Given the description of an element on the screen output the (x, y) to click on. 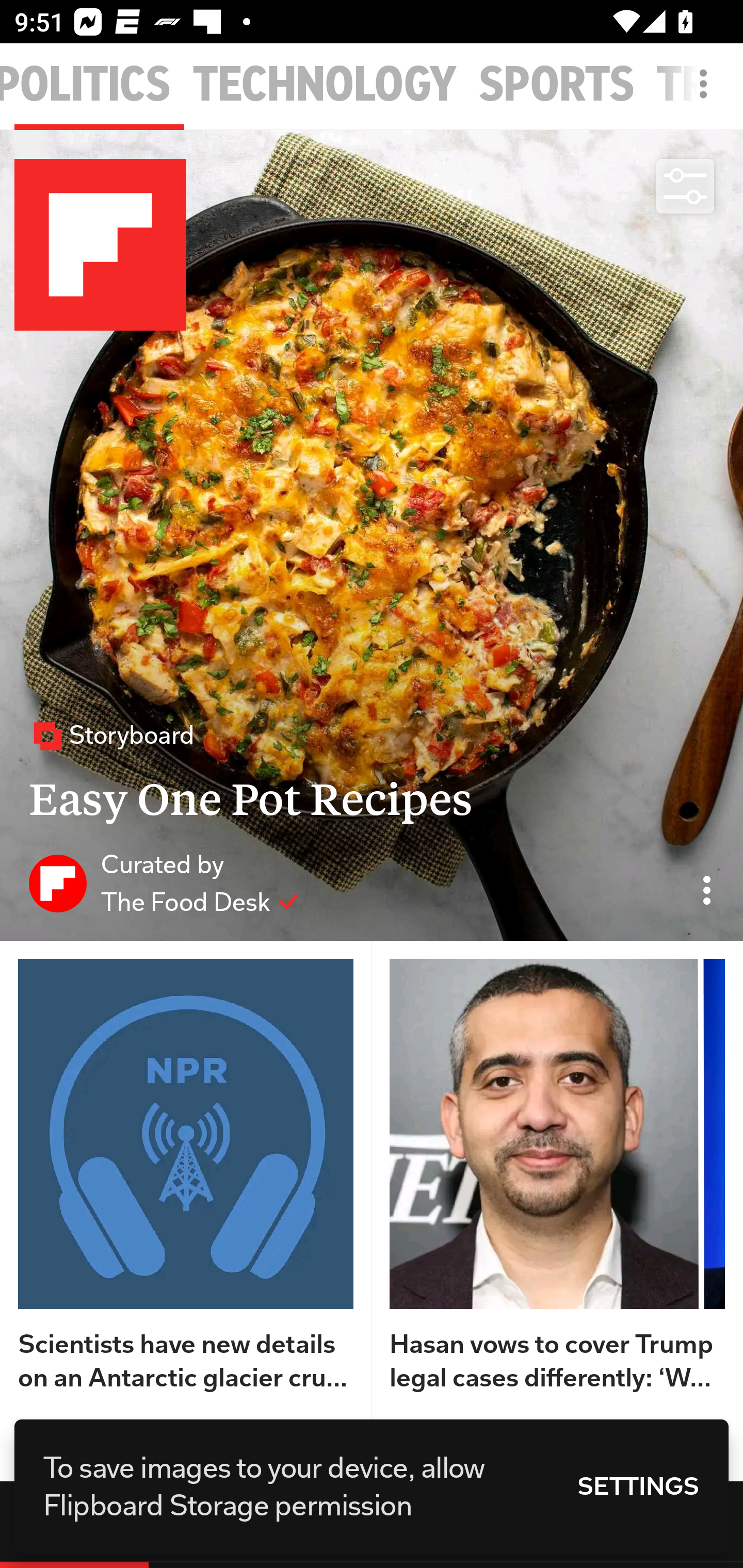
POLITICS (85, 84)
TECHNOLOGY (324, 84)
SPORTS (556, 84)
More options (706, 93)
Curated by The Food Desk (163, 882)
